Given the description of an element on the screen output the (x, y) to click on. 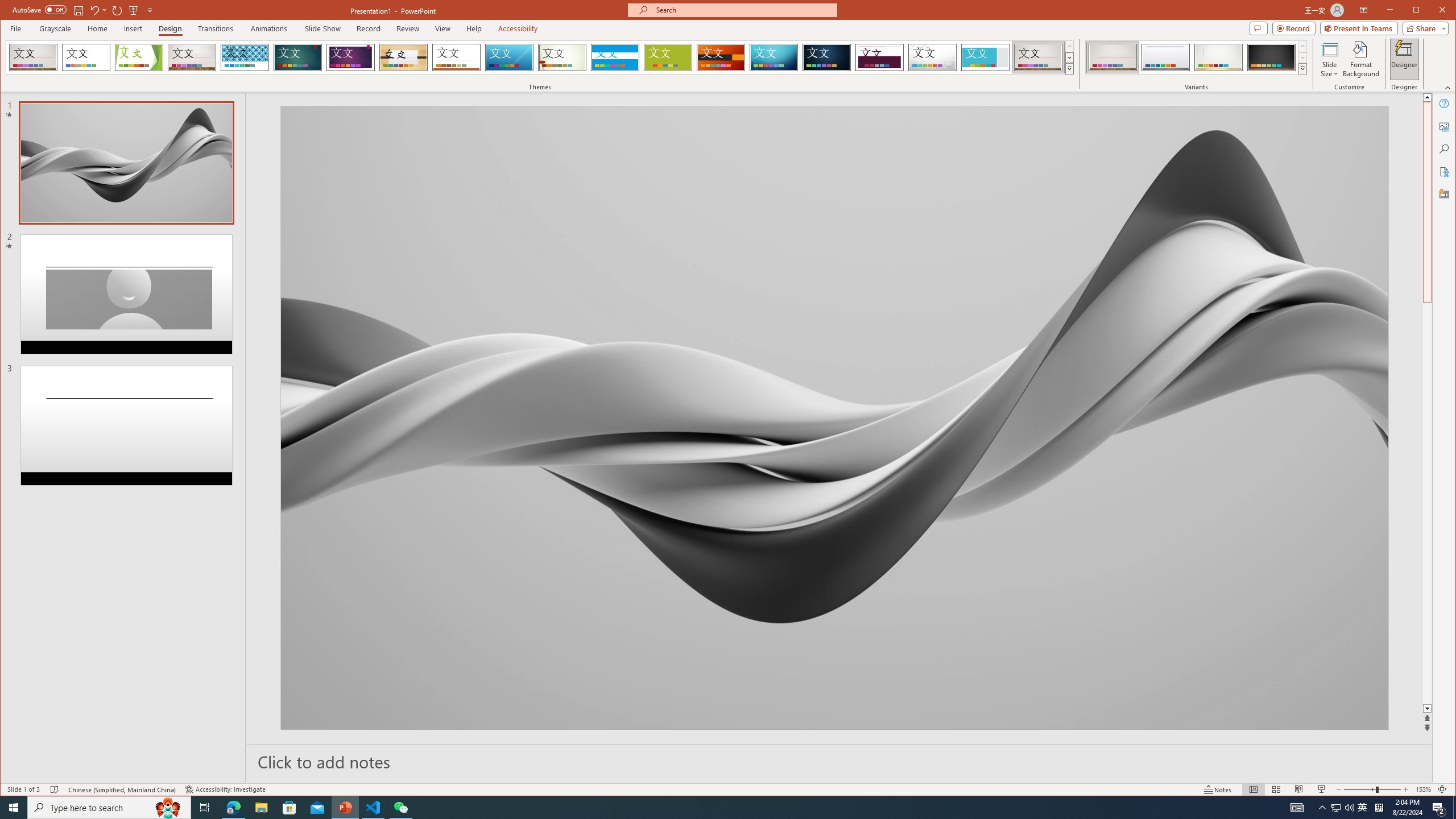
Dividend (879, 57)
Office Theme (85, 57)
Format Background (1360, 59)
Banded (615, 57)
